Given the description of an element on the screen output the (x, y) to click on. 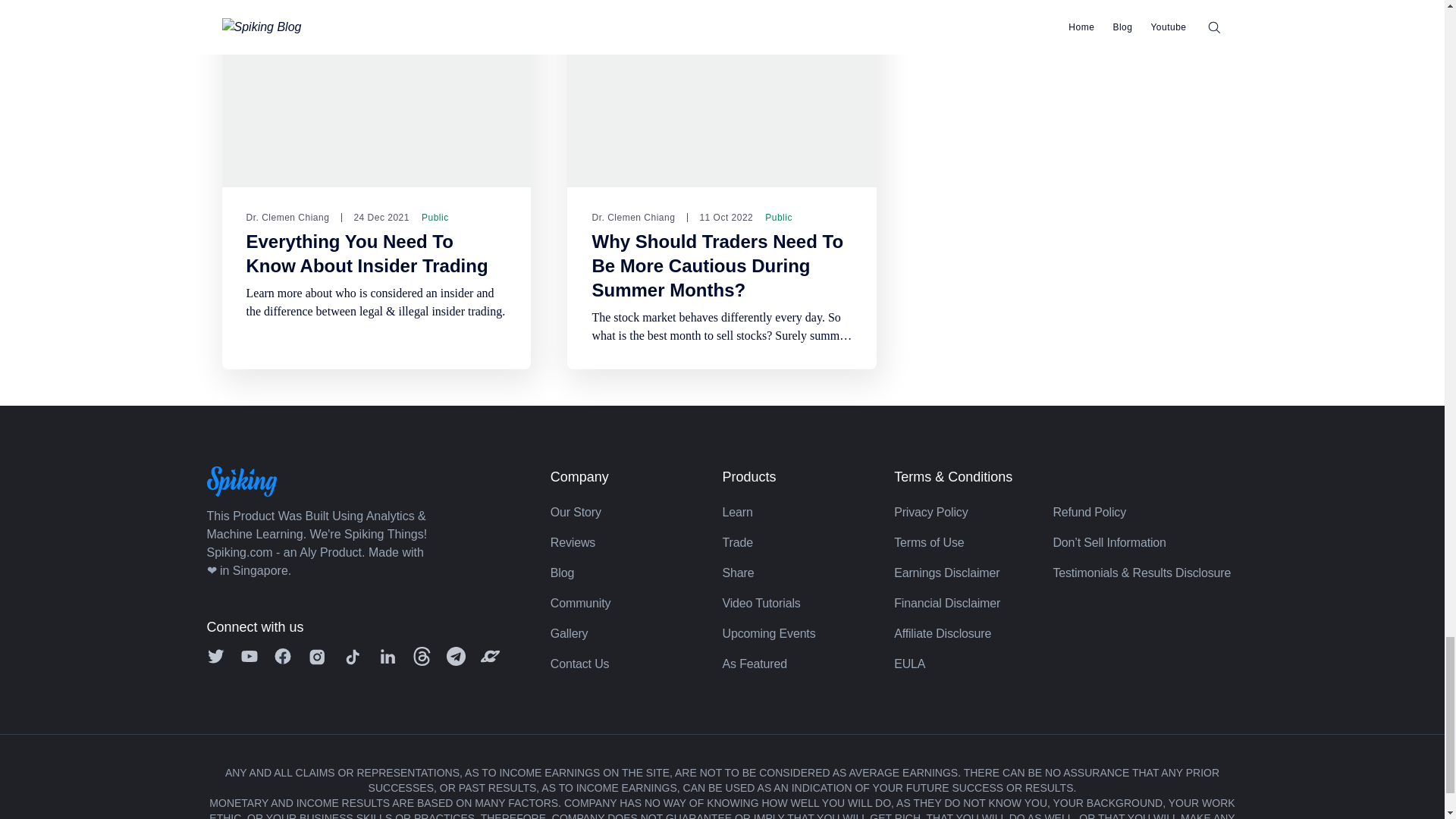
Everything You Need To Know About Insider Trading (366, 253)
Dr. Clemen Chiang (287, 217)
Dr. Clemen Chiang (633, 217)
